Given the description of an element on the screen output the (x, y) to click on. 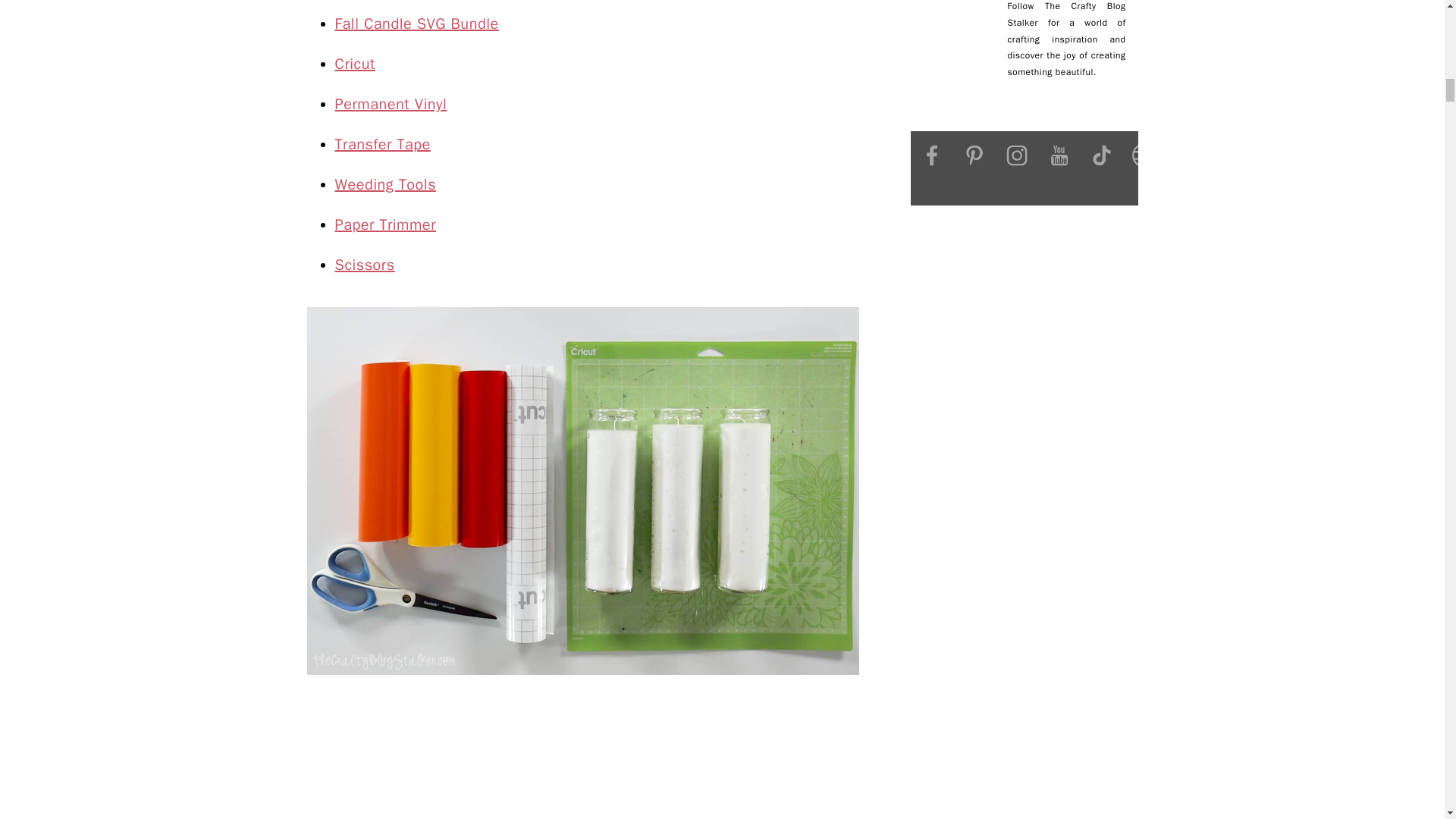
Transfer Tape (382, 144)
Paper Trimmer (385, 224)
Weeding Tools (385, 184)
Permanent Vinyl (390, 104)
Scissors (364, 264)
Fall Candle SVG Bundle (416, 23)
Cricut (354, 63)
